Given the description of an element on the screen output the (x, y) to click on. 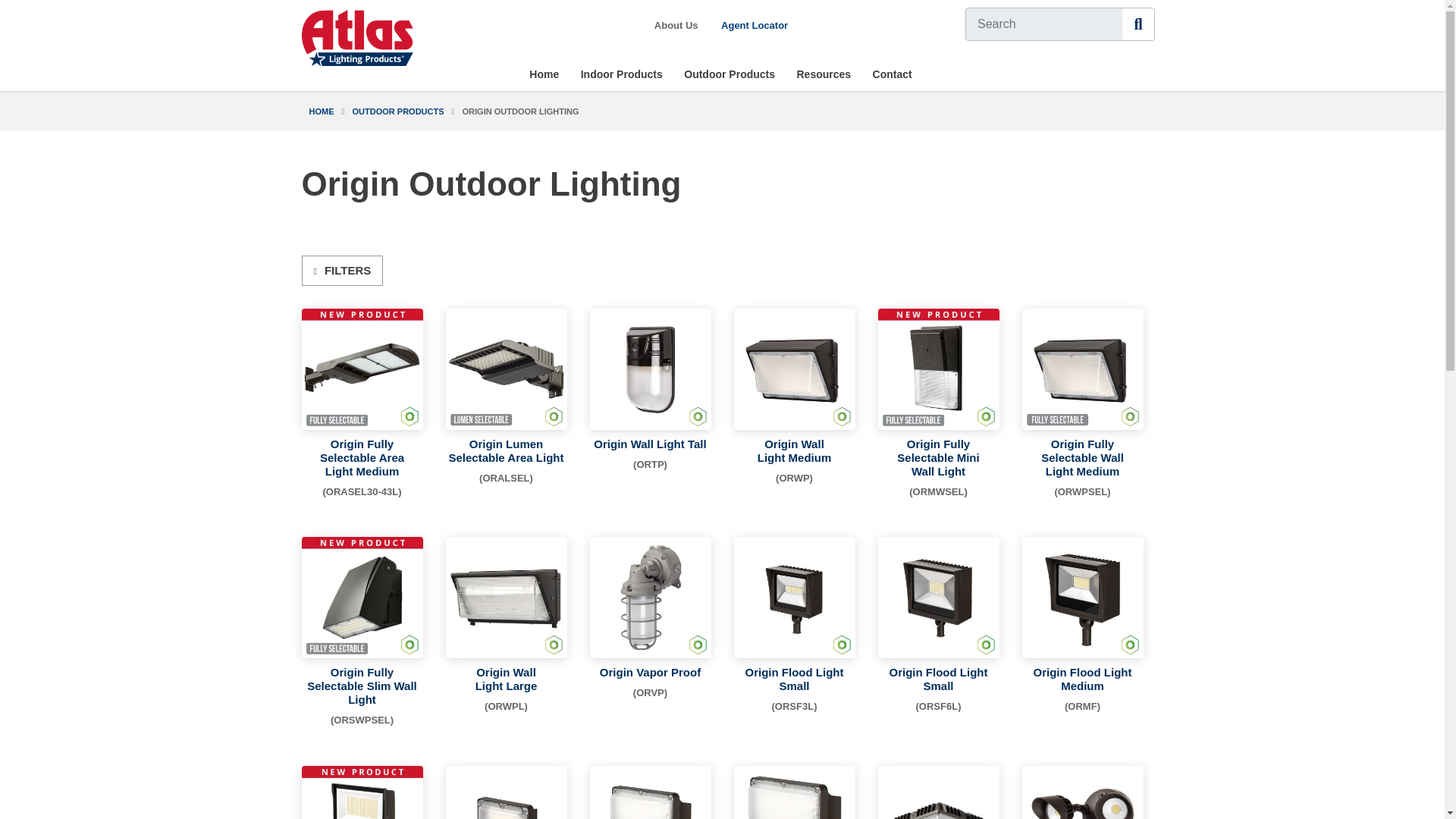
Home (543, 73)
Search (1138, 24)
Indoor Products (621, 73)
About Us (675, 24)
Agent Locator (754, 24)
